Given the description of an element on the screen output the (x, y) to click on. 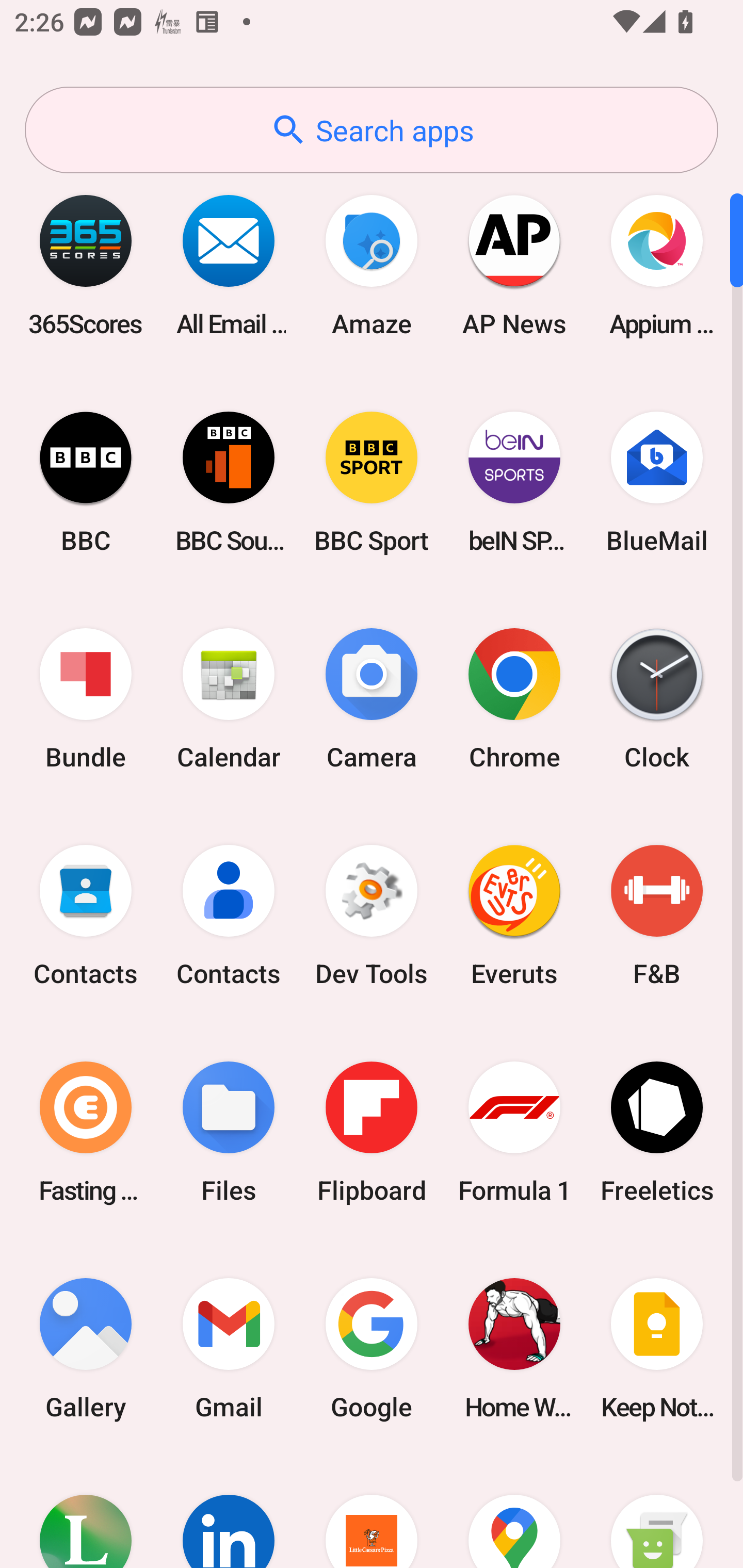
  Search apps (371, 130)
365Scores (85, 264)
All Email Connect (228, 264)
Amaze (371, 264)
AP News (514, 264)
Appium Settings (656, 264)
BBC (85, 482)
BBC Sounds (228, 482)
BBC Sport (371, 482)
beIN SPORTS (514, 482)
BlueMail (656, 482)
Bundle (85, 699)
Calendar (228, 699)
Camera (371, 699)
Chrome (514, 699)
Clock (656, 699)
Contacts (85, 915)
Contacts (228, 915)
Dev Tools (371, 915)
Everuts (514, 915)
F&B (656, 915)
Fasting Coach (85, 1131)
Files (228, 1131)
Flipboard (371, 1131)
Formula 1 (514, 1131)
Freeletics (656, 1131)
Gallery (85, 1348)
Gmail (228, 1348)
Google (371, 1348)
Home Workout (514, 1348)
Keep Notes (656, 1348)
Lifesum (85, 1512)
LinkedIn (228, 1512)
Little Caesars Pizza (371, 1512)
Maps (514, 1512)
Messaging (656, 1512)
